Given the description of an element on the screen output the (x, y) to click on. 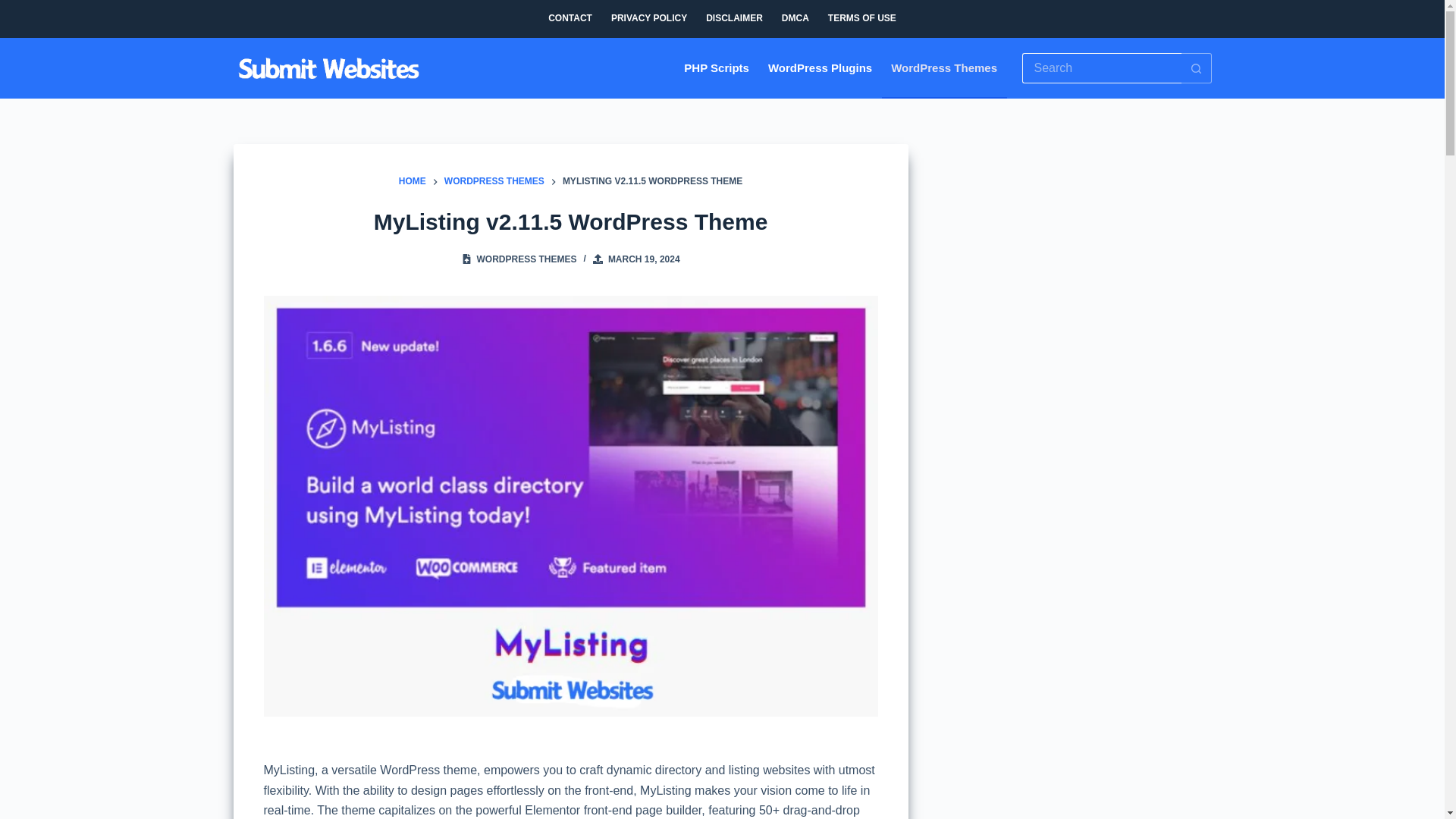
PHP Scripts (716, 67)
WORDPRESS THEMES (526, 258)
WordPress Themes (944, 67)
CONTACT (570, 18)
MyListing v2.11.5 WordPress Theme (570, 221)
Skip to content (15, 7)
DMCA (794, 18)
TERMS OF USE (861, 18)
WORDPRESS THEMES (494, 181)
WordPress Plugins (819, 67)
